Given the description of an element on the screen output the (x, y) to click on. 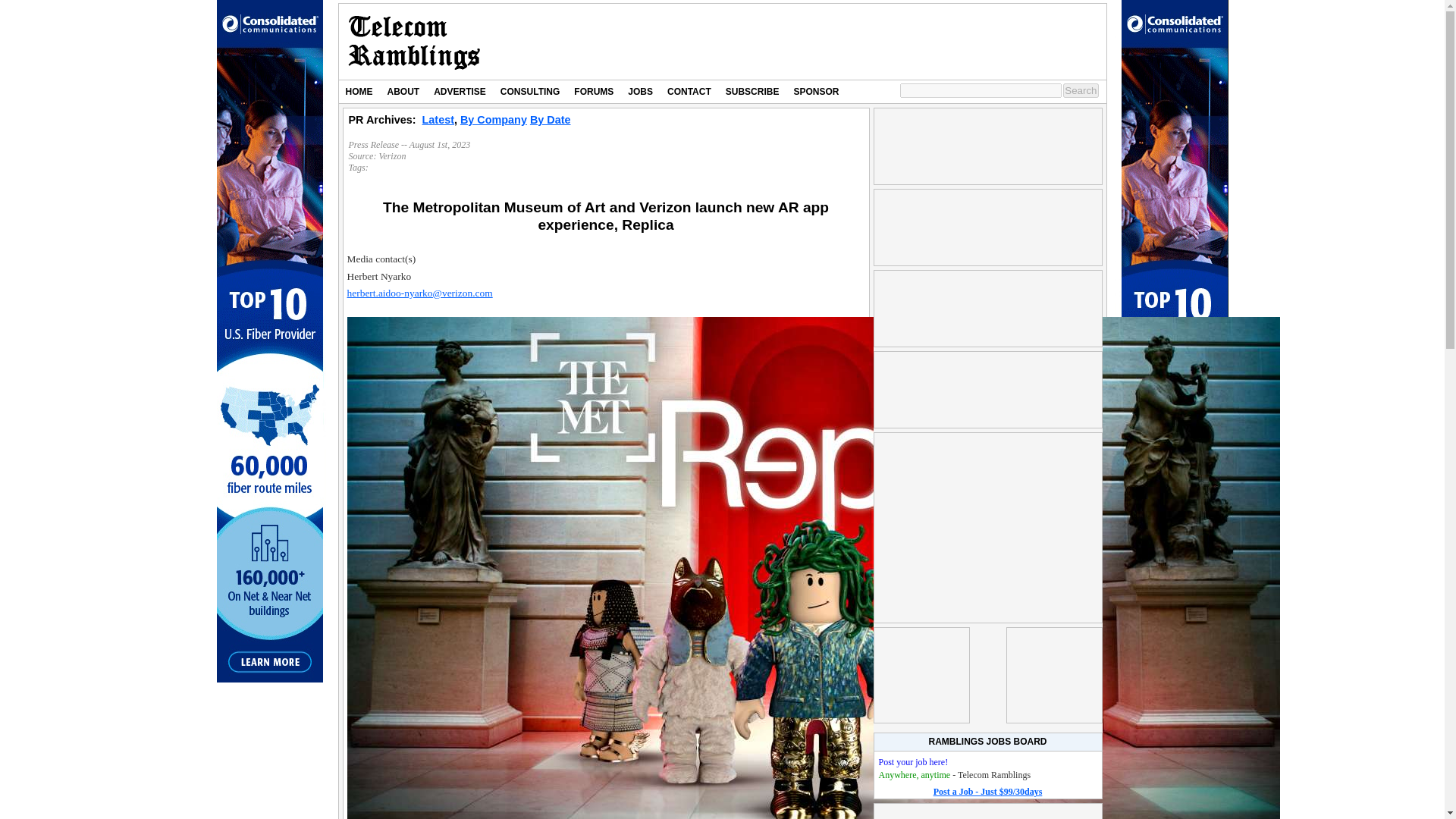
SUBSCRIBE (752, 91)
Search (1079, 90)
Search (1079, 90)
TR Newswire (413, 41)
HOME (357, 91)
Telecom Ramblings (413, 41)
ADVERTISE (459, 91)
CONSULTING (529, 91)
3rd party ad content (826, 41)
ABOUT (403, 91)
JOBS (640, 91)
FORUMS (593, 91)
By Date (549, 119)
Verizon (392, 155)
3rd party ad content (986, 227)
